Given the description of an element on the screen output the (x, y) to click on. 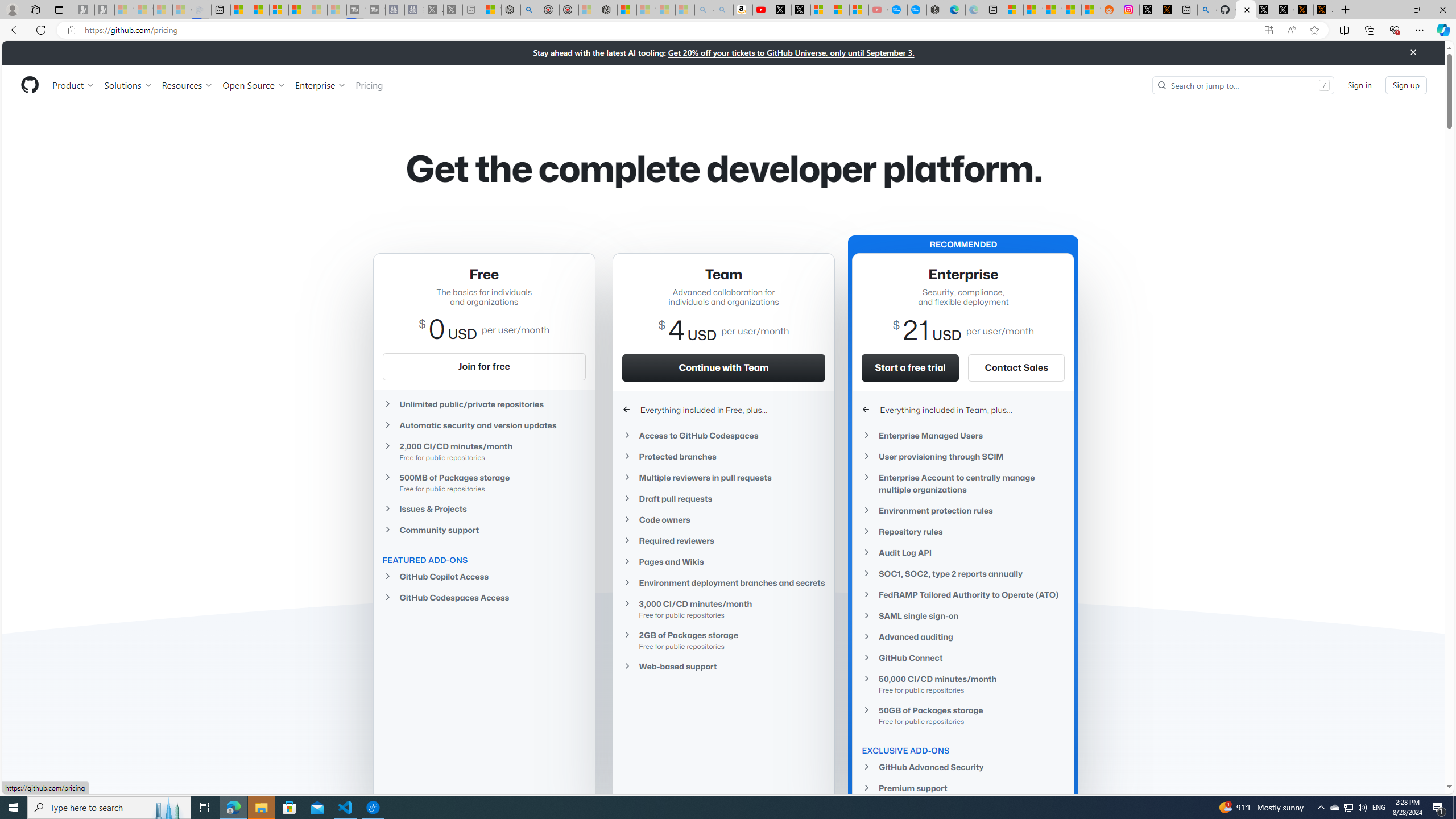
Nordace - Nordace Siena Is Not An Ordinary Backpack (606, 9)
X Privacy Policy (1323, 9)
FedRAMP Tailored Authority to Operate (ATO) (963, 594)
Enterprise (319, 84)
User provisioning through SCIM (963, 456)
GitHub Advanced Security (963, 767)
Audit Log API (963, 552)
Unlimited public/private repositories (483, 404)
amazon - Search - Sleeping (704, 9)
2GB of Packages storage Free for public repositories (723, 640)
Nordace - Nordace has arrived Hong Kong (935, 9)
GitHub Connect (963, 658)
Premium support (963, 788)
